Given the description of an element on the screen output the (x, y) to click on. 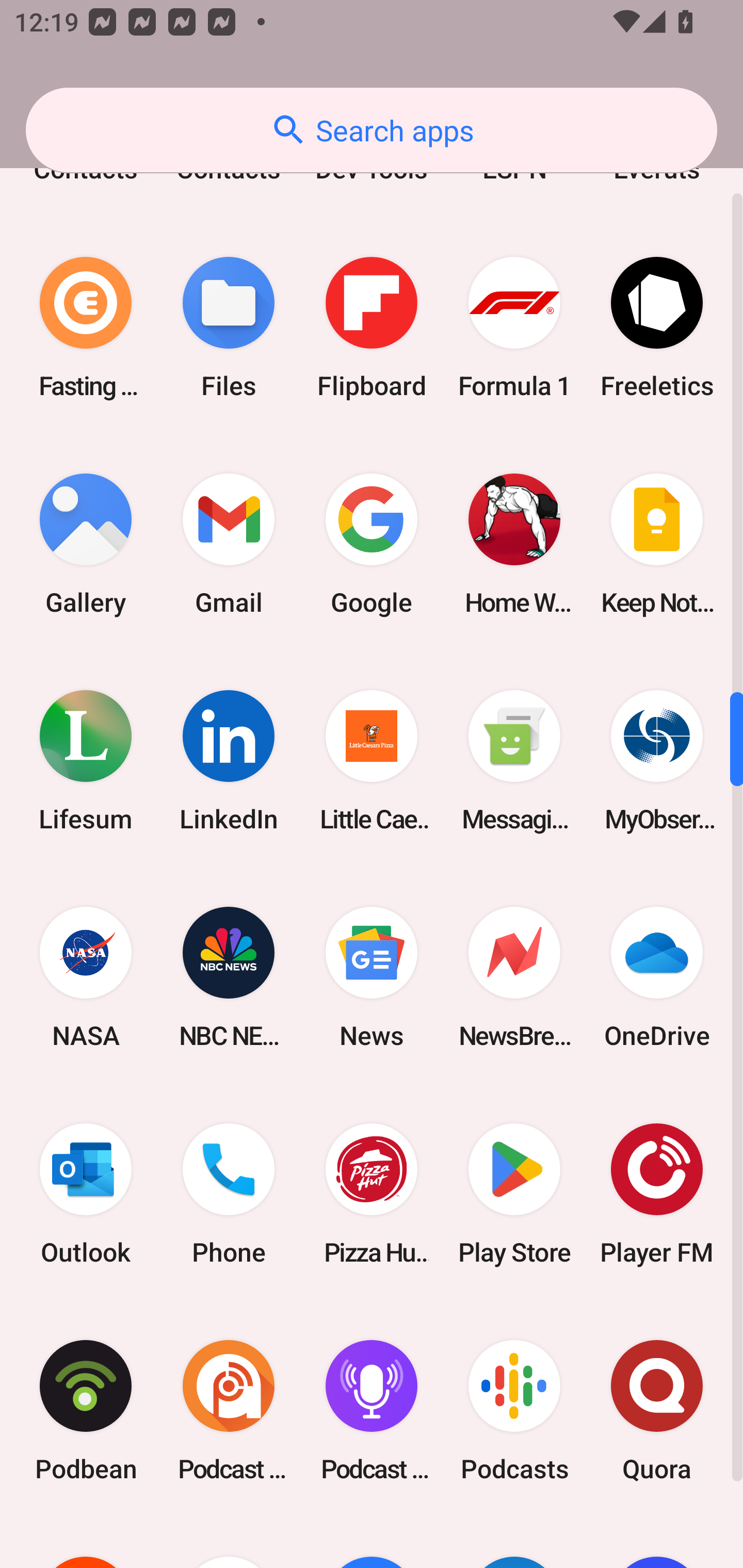
  Search apps (371, 130)
Fasting Coach (85, 327)
Files (228, 327)
Flipboard (371, 327)
Formula 1 (514, 327)
Freeletics (656, 327)
Gallery (85, 543)
Gmail (228, 543)
Google (371, 543)
Home Workout (514, 543)
Keep Notes (656, 543)
Lifesum (85, 760)
LinkedIn (228, 760)
Little Caesars Pizza (371, 760)
Messaging (514, 760)
MyObservatory (656, 760)
NASA (85, 976)
NBC NEWS (228, 976)
News (371, 976)
NewsBreak (514, 976)
OneDrive (656, 976)
Outlook (85, 1194)
Phone (228, 1194)
Pizza Hut HK & Macau (371, 1194)
Play Store (514, 1194)
Player FM (656, 1194)
Podbean (85, 1411)
Podcast Addict (228, 1411)
Podcast Player (371, 1411)
Podcasts (514, 1411)
Quora (656, 1411)
